Given the description of an element on the screen output the (x, y) to click on. 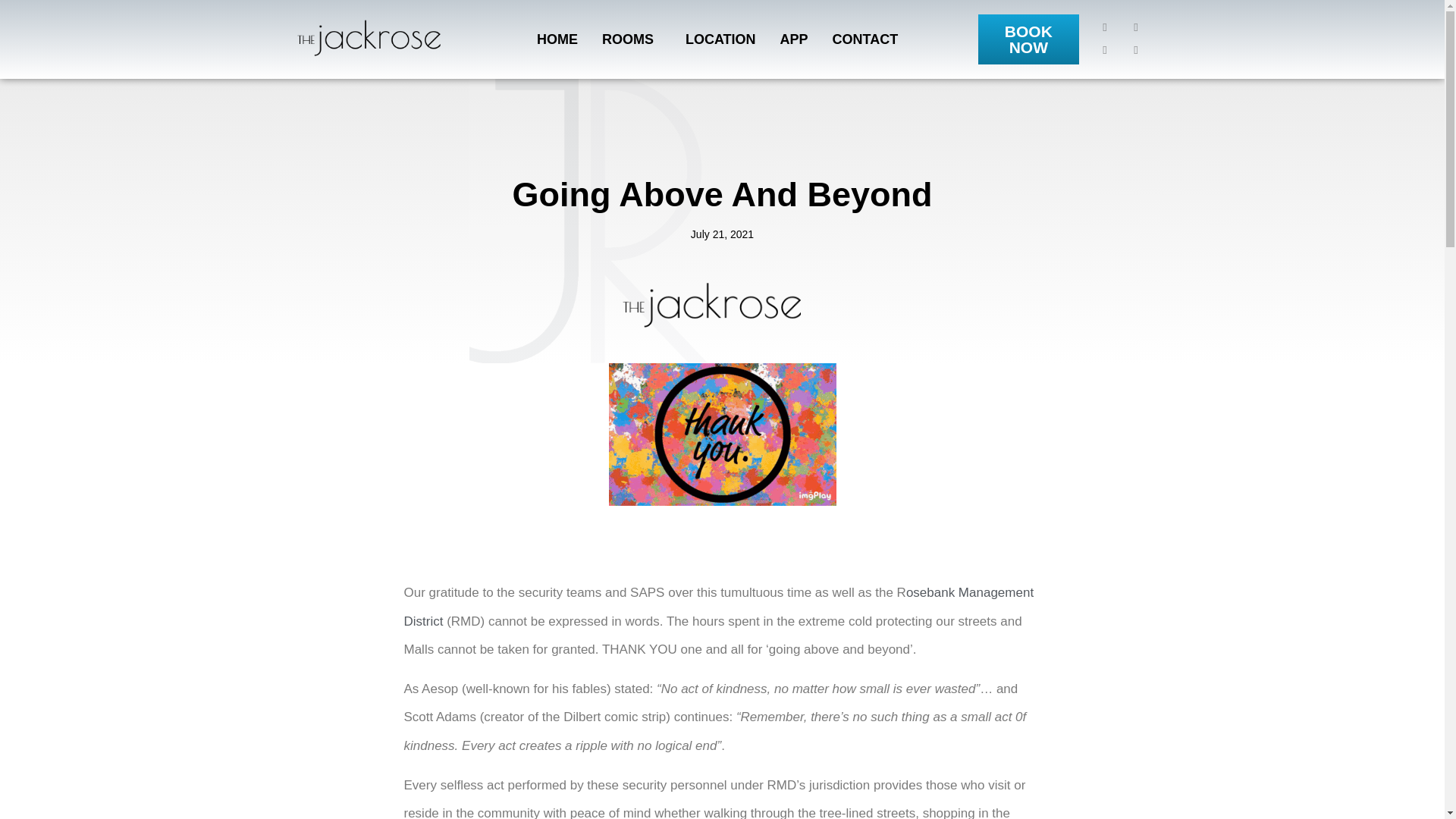
ROOMS (630, 39)
BOOK NOW (1028, 39)
HOME (556, 39)
APP (794, 39)
LOCATION (720, 39)
CONTACT (866, 39)
